Given the description of an element on the screen output the (x, y) to click on. 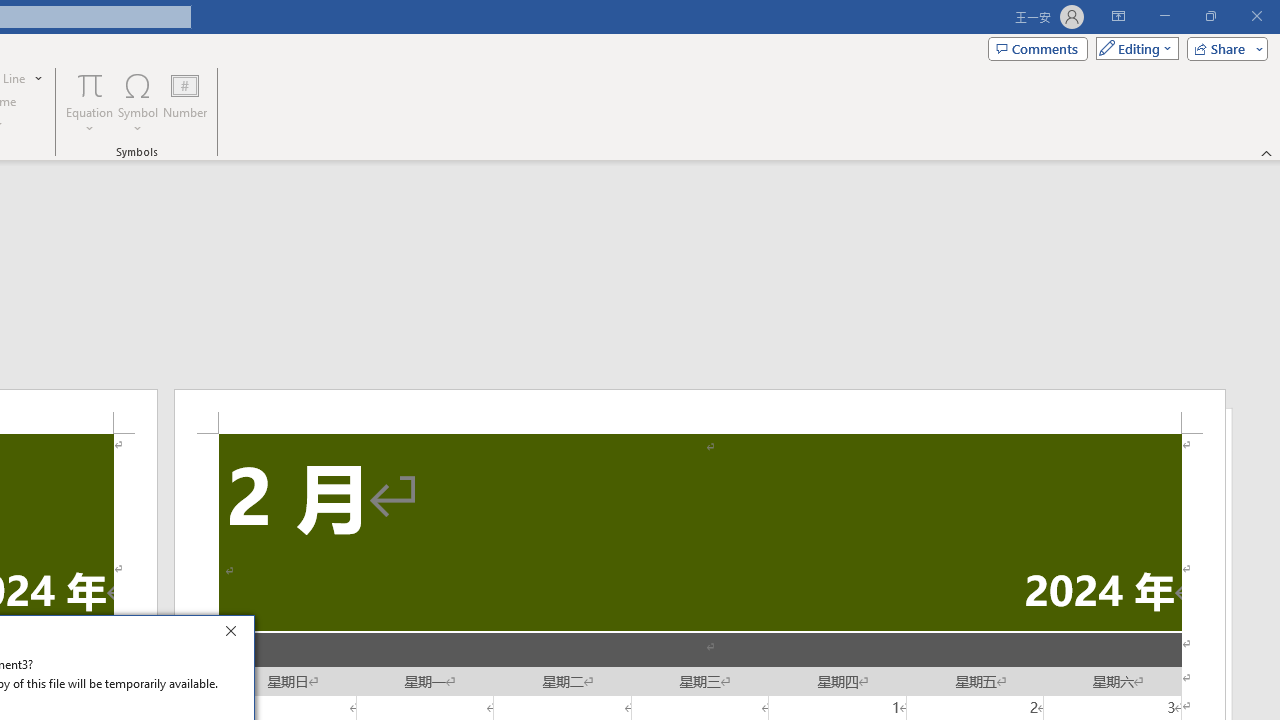
Symbol (138, 102)
Equation (90, 102)
More Options (90, 121)
Restore Down (1210, 16)
Comments (1038, 48)
Collapse the Ribbon (1267, 152)
Equation (90, 84)
Close (236, 633)
Number... (185, 102)
Minimize (1164, 16)
Header -Section 2- (700, 411)
Mode (1133, 47)
Ribbon Display Options (1118, 16)
